Given the description of an element on the screen output the (x, y) to click on. 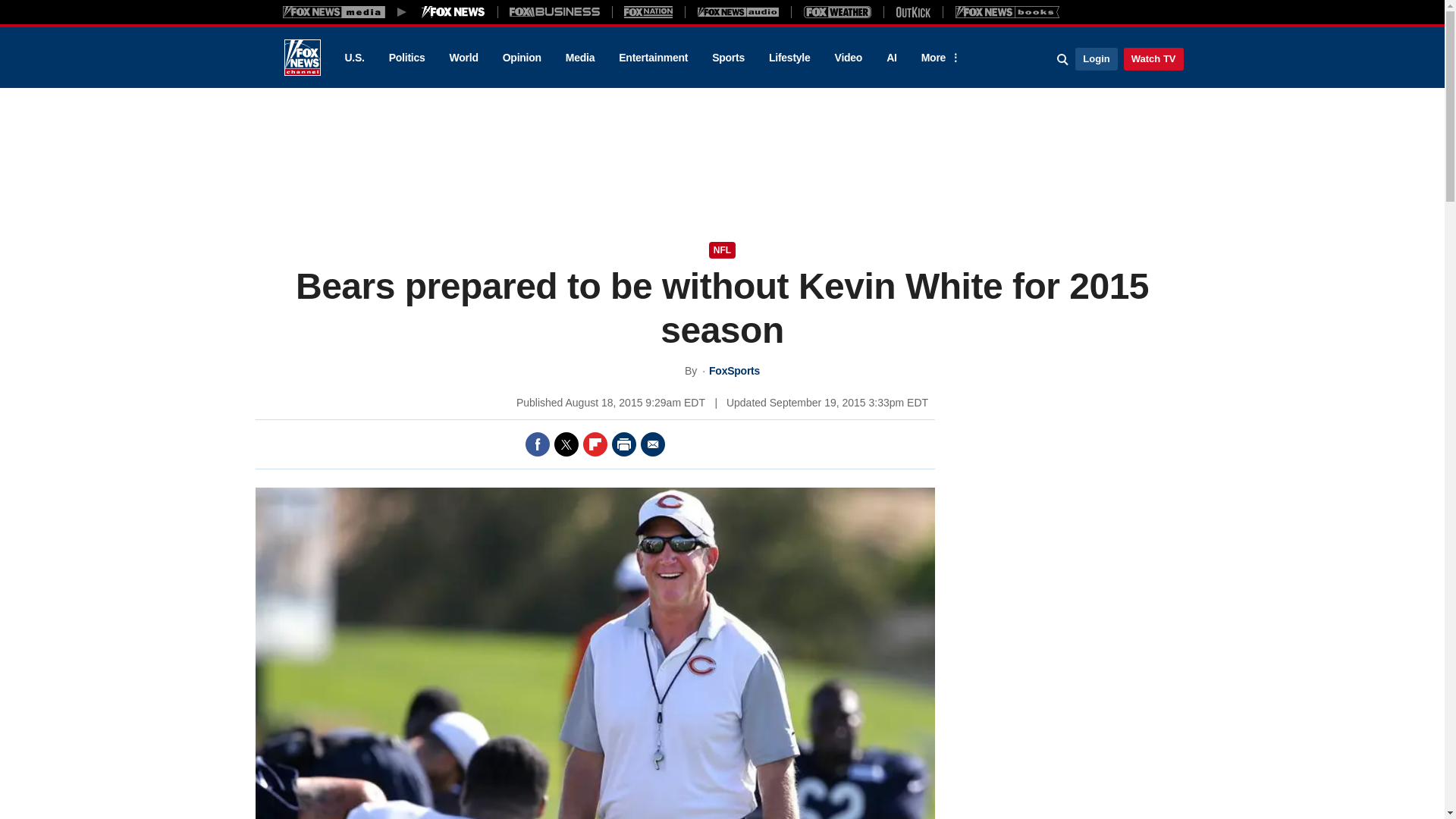
Fox Weather (836, 11)
Sports (728, 57)
Fox News (301, 57)
Login (1095, 58)
Media (580, 57)
Watch TV (1153, 58)
Outkick (912, 11)
Books (1007, 11)
Fox Nation (648, 11)
Fox News Audio (737, 11)
More (938, 57)
Fox Business (554, 11)
U.S. (353, 57)
Entertainment (653, 57)
World (464, 57)
